Given the description of an element on the screen output the (x, y) to click on. 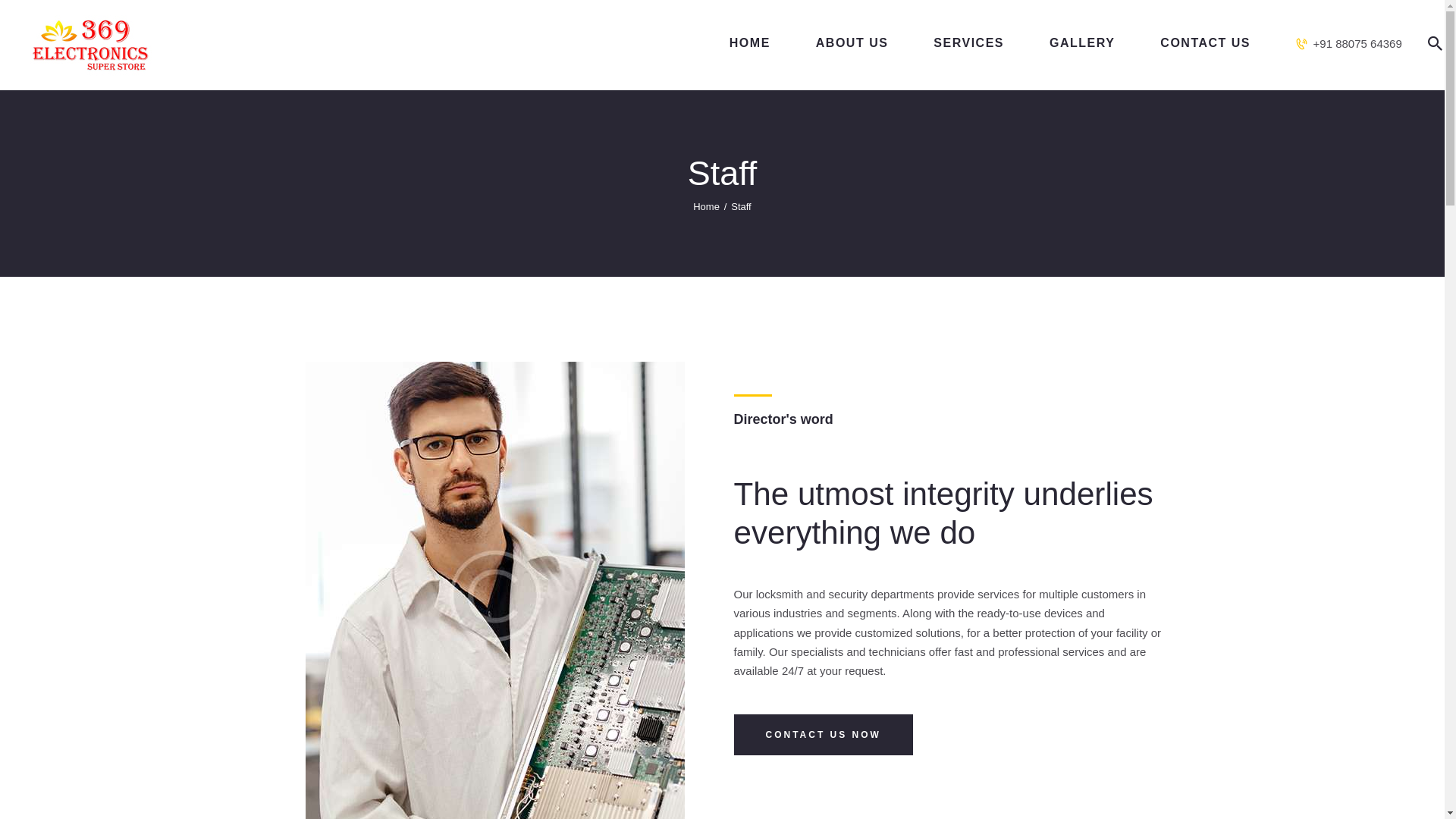
Home (706, 206)
CONTACT US NOW (822, 734)
ABOUT US (852, 43)
SERVICES (968, 43)
CONTACT US (1204, 43)
HOME (749, 43)
GALLERY (1081, 43)
